Given the description of an element on the screen output the (x, y) to click on. 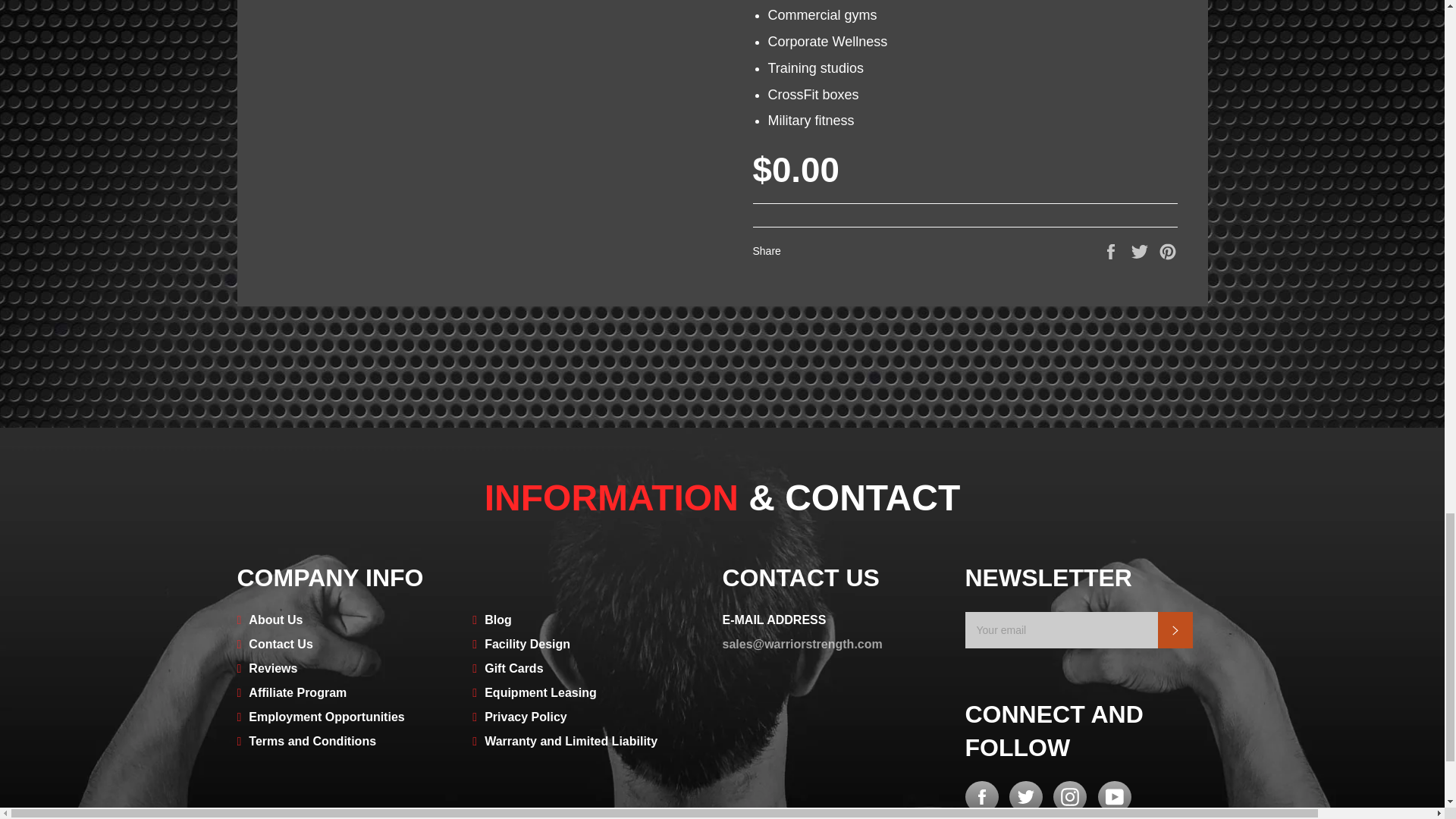
Warrior Strength Equipment on YouTube (1114, 797)
Warrior Strength Equipment on Instagram (1069, 797)
Warrior Strength Equipment on Facebook (980, 797)
Tweet on Twitter (1141, 250)
Pin on Pinterest (1167, 250)
Warrior Strength Equipment on Twitter (1025, 797)
Share on Facebook (1112, 250)
